Given the description of an element on the screen output the (x, y) to click on. 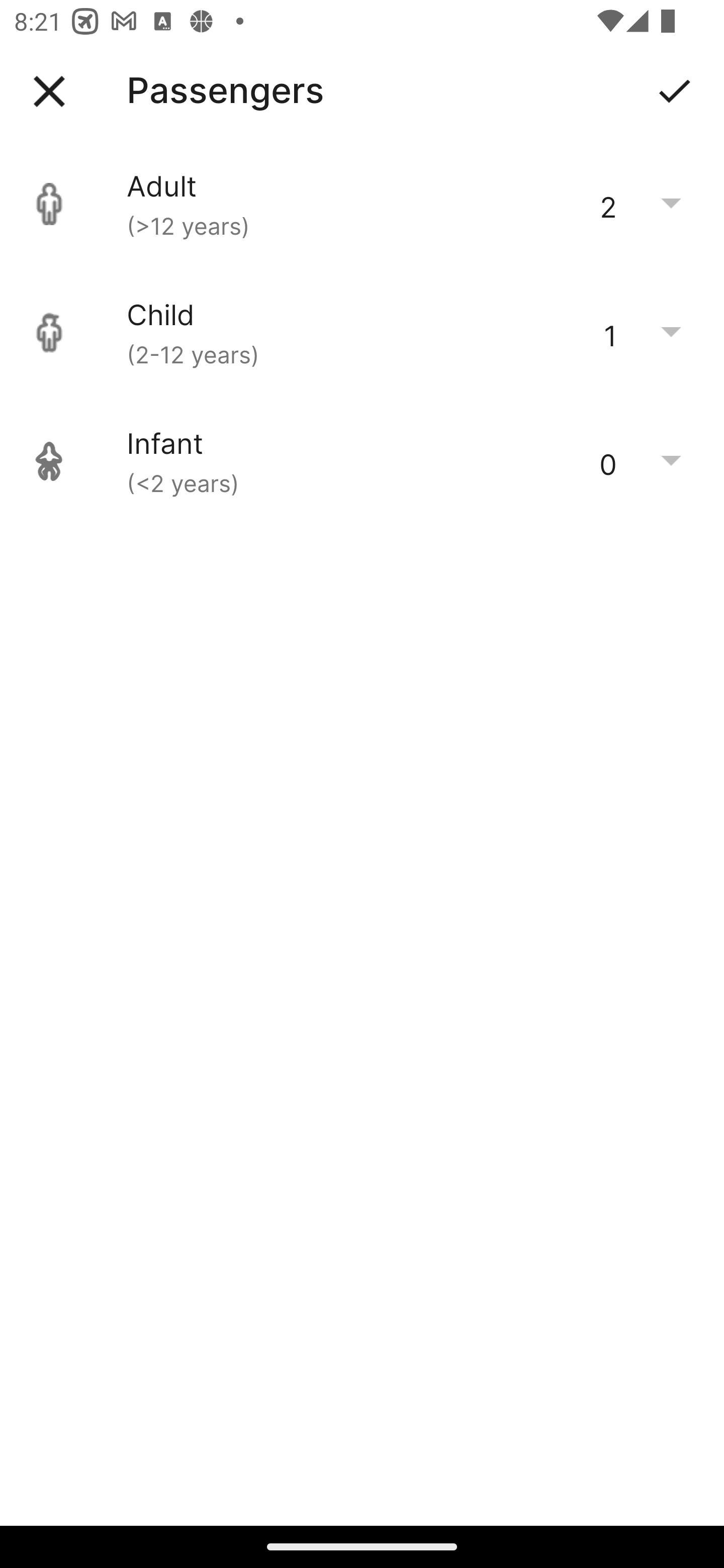
Adult (>12 years) 2 (362, 204)
Child (2-12 years) 1 (362, 332)
Infant (<2 years) 0 (362, 461)
